Given the description of an element on the screen output the (x, y) to click on. 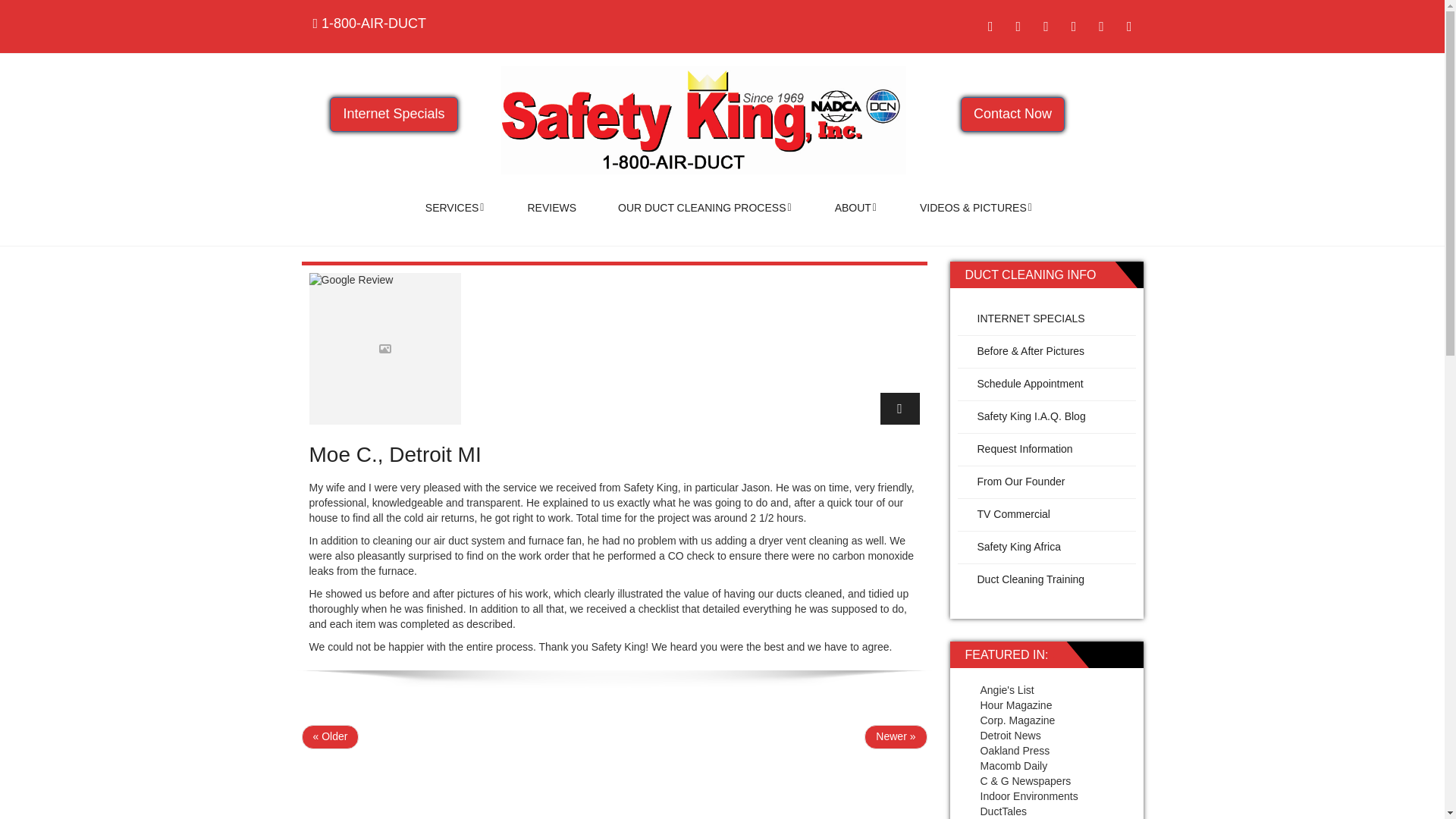
REVIEWS (551, 207)
SERVICES (455, 207)
ABOUT (855, 207)
Internet Specials (393, 114)
Contact Now (1012, 114)
OUR DUCT CLEANING PROCESS (705, 207)
Moe C., Detroit MI (394, 454)
